Given the description of an element on the screen output the (x, y) to click on. 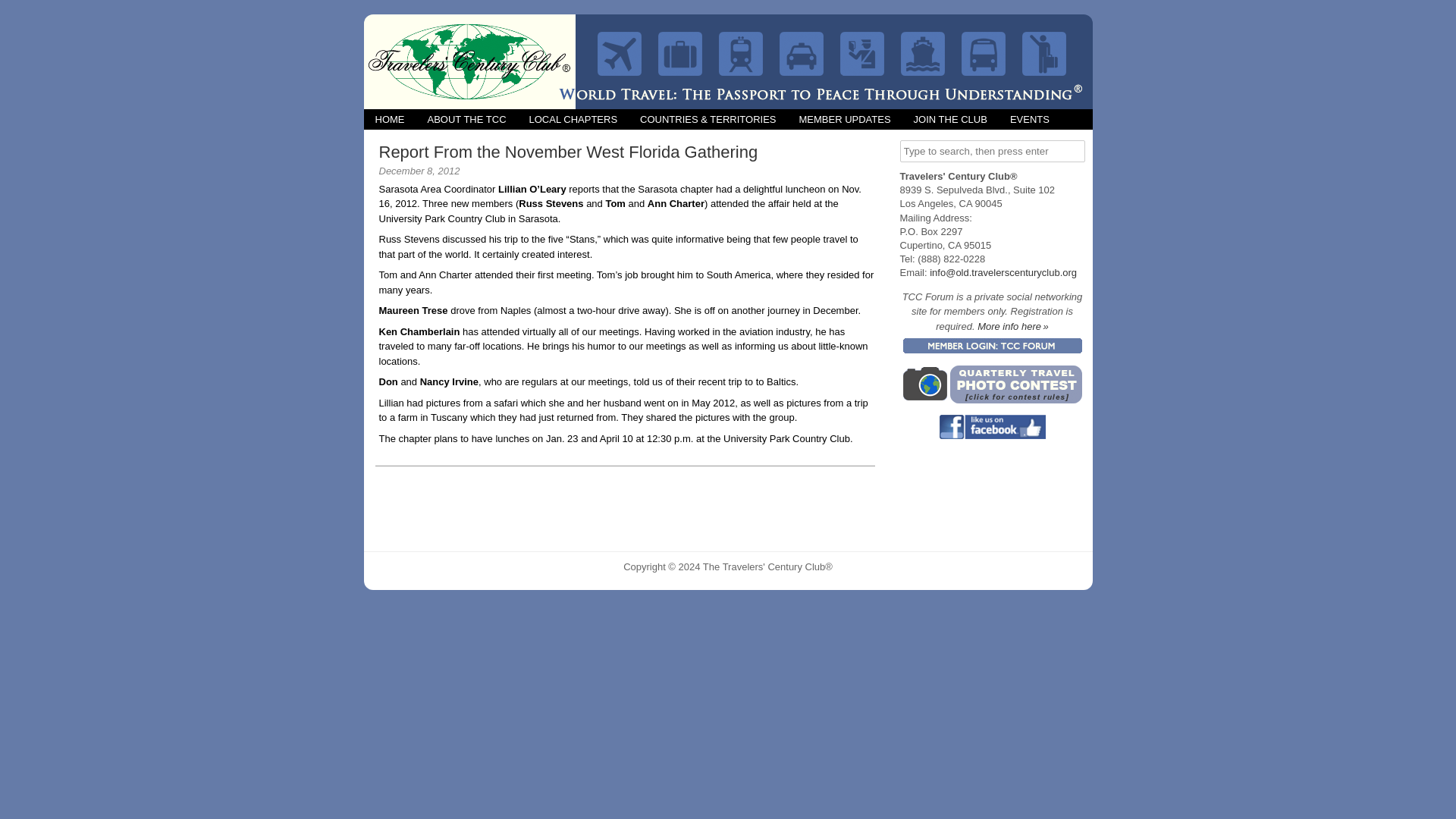
Type to search, then press enter (991, 151)
HOME (390, 118)
ABOUT THE TCC (465, 118)
LOCAL CHAPTERS (573, 118)
